Given the description of an element on the screen output the (x, y) to click on. 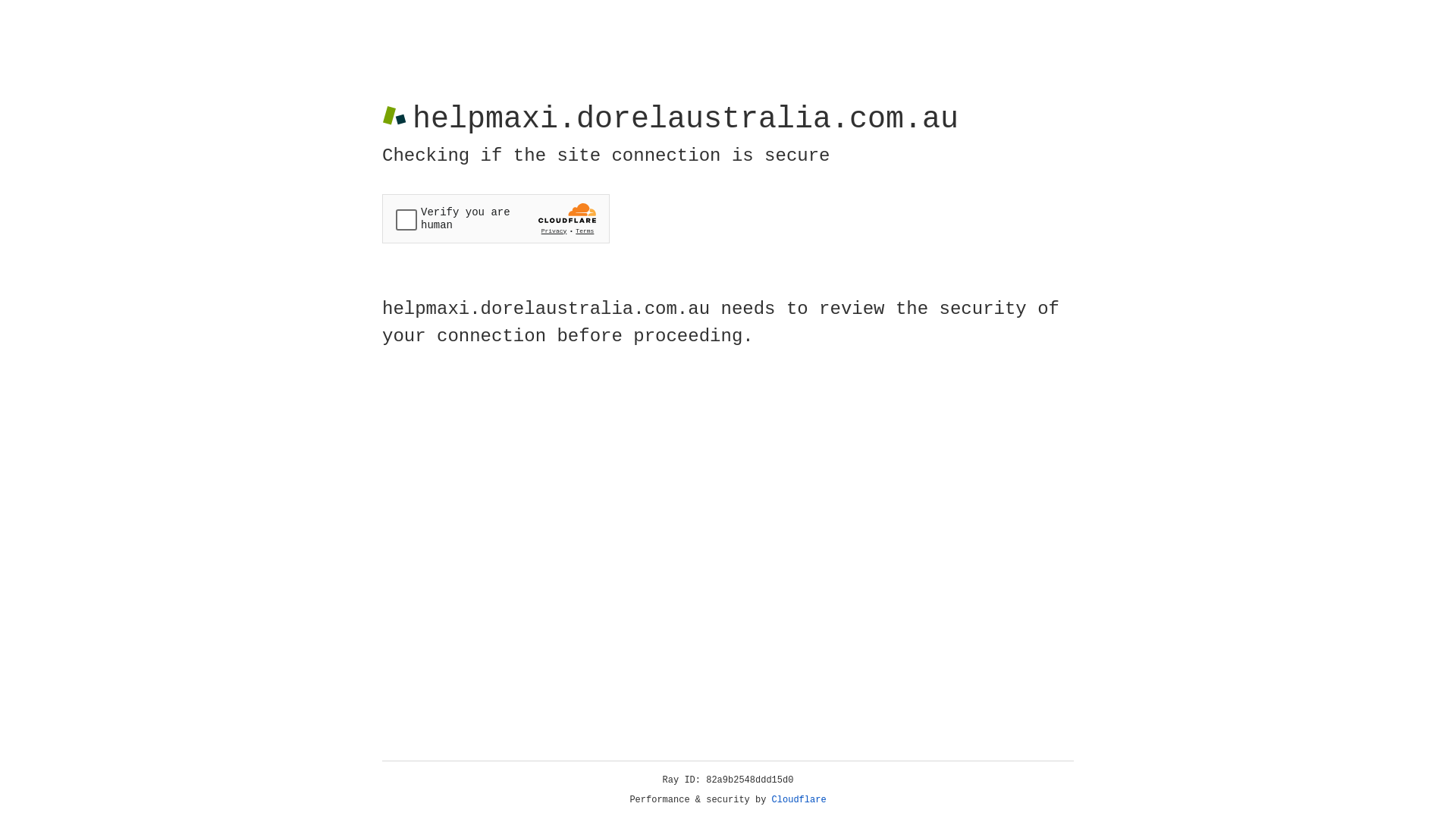
Widget containing a Cloudflare security challenge Element type: hover (495, 218)
Cloudflare Element type: text (798, 799)
